Given the description of an element on the screen output the (x, y) to click on. 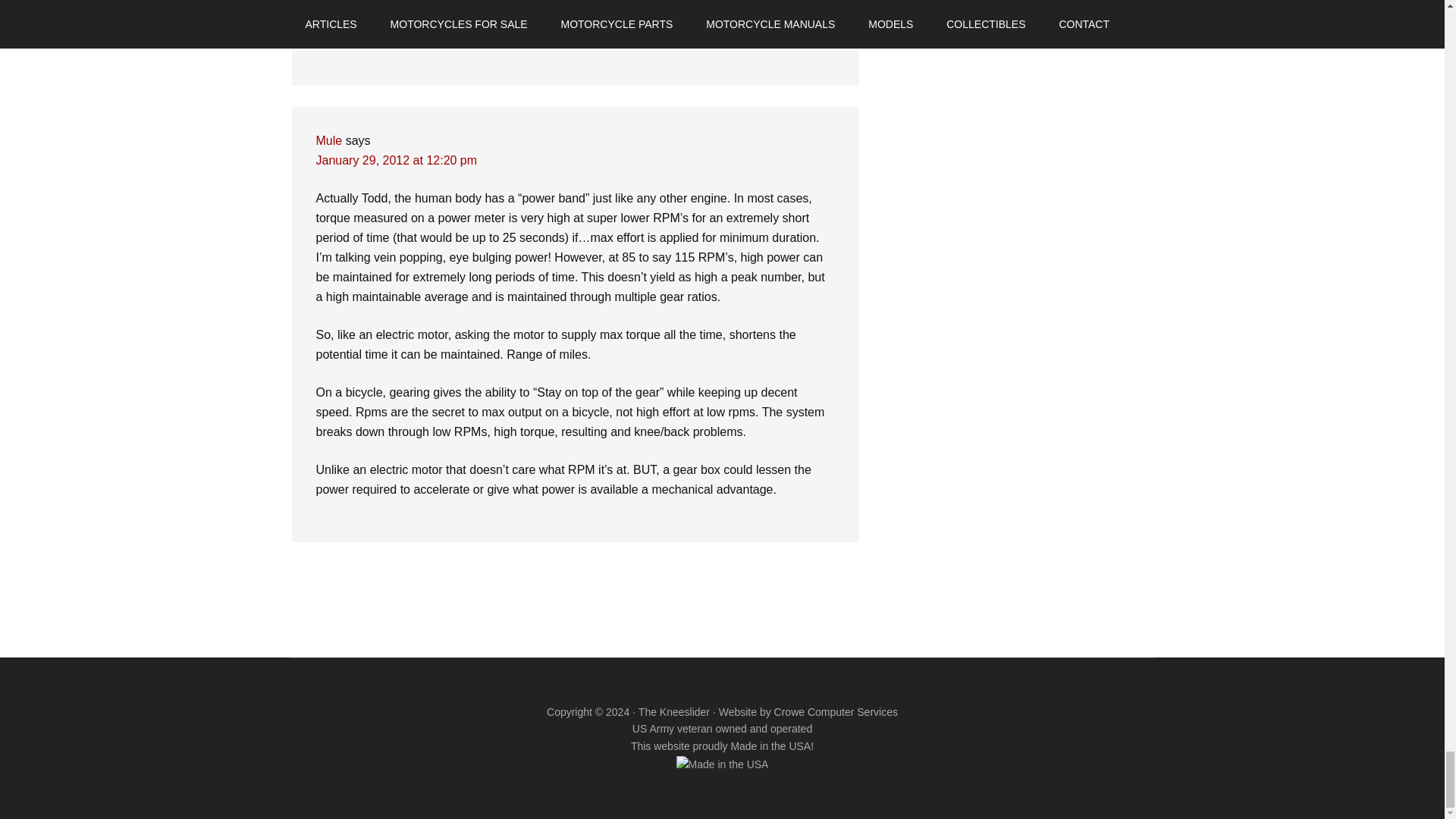
Made in the USA (722, 764)
